Given the description of an element on the screen output the (x, y) to click on. 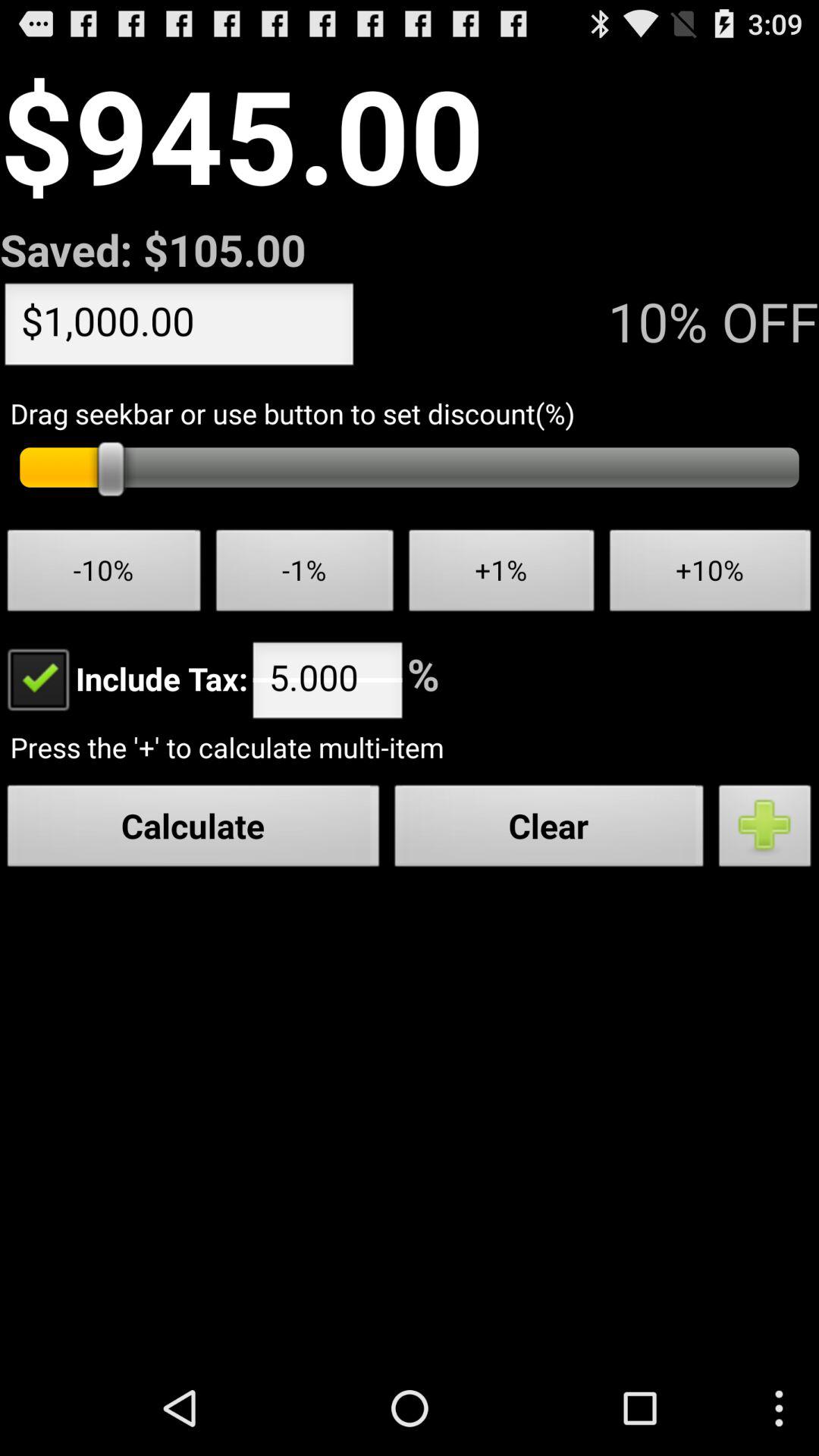
choose app next to   10% off (179, 327)
